Given the description of an element on the screen output the (x, y) to click on. 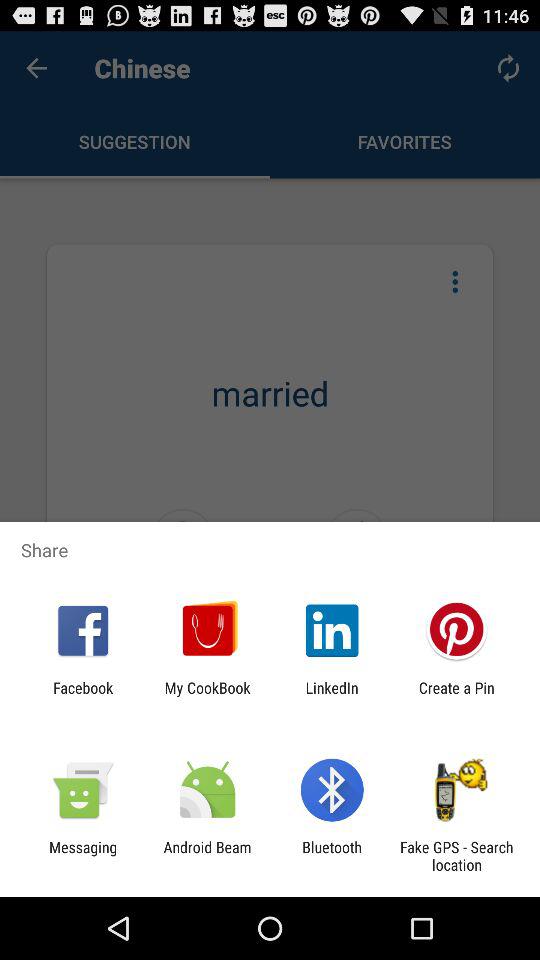
open my cookbook app (207, 696)
